Given the description of an element on the screen output the (x, y) to click on. 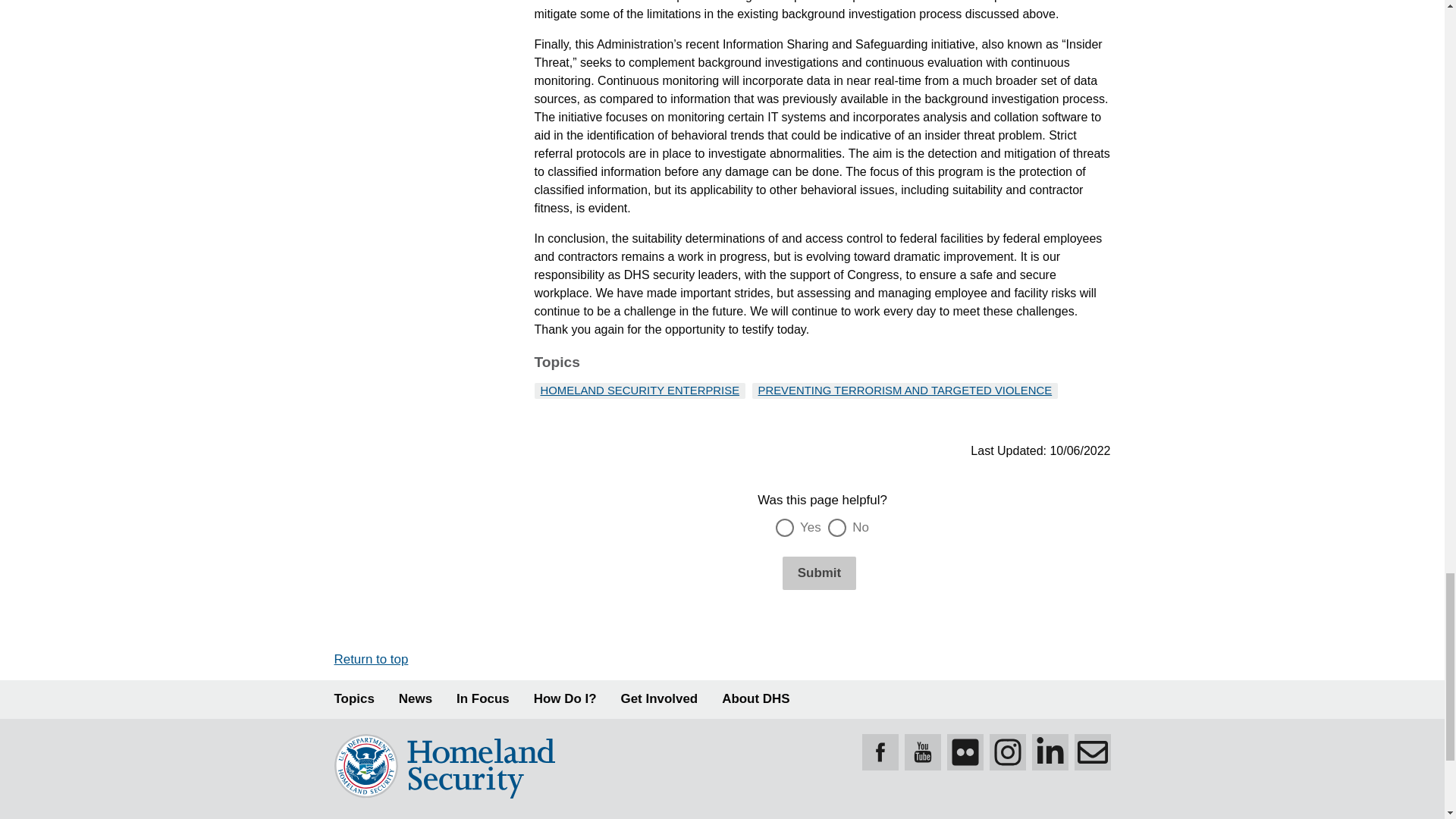
Submit (819, 572)
Get Involved (659, 699)
News (415, 699)
Topics (353, 699)
Submit (819, 572)
